Given the description of an element on the screen output the (x, y) to click on. 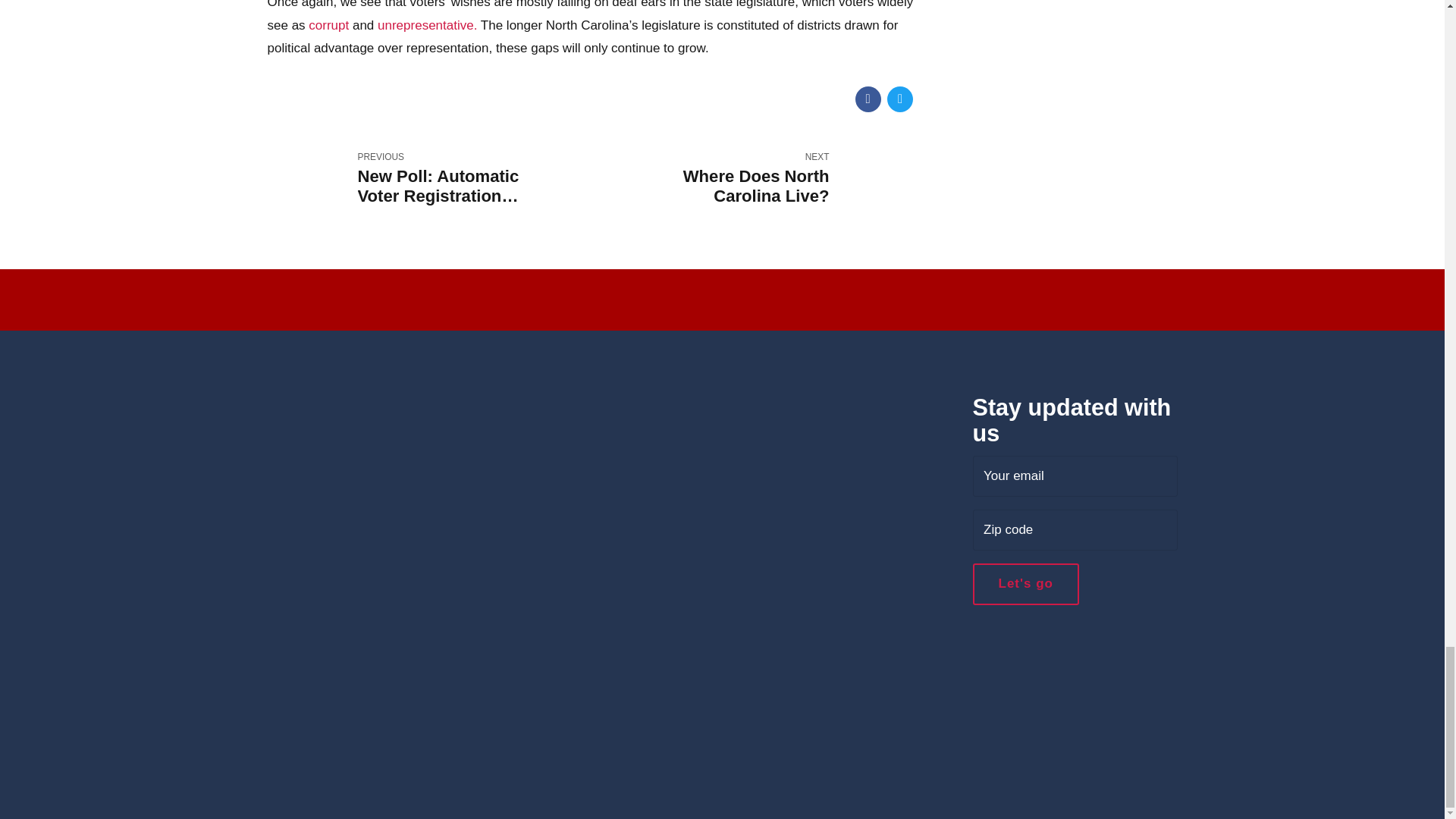
Share on Twitter (899, 99)
Share on Facebook (868, 99)
Zip code (429, 177)
corrupt (1074, 529)
Your email (328, 25)
unrepresentative. (755, 177)
Let's go (1074, 475)
